Given the description of an element on the screen output the (x, y) to click on. 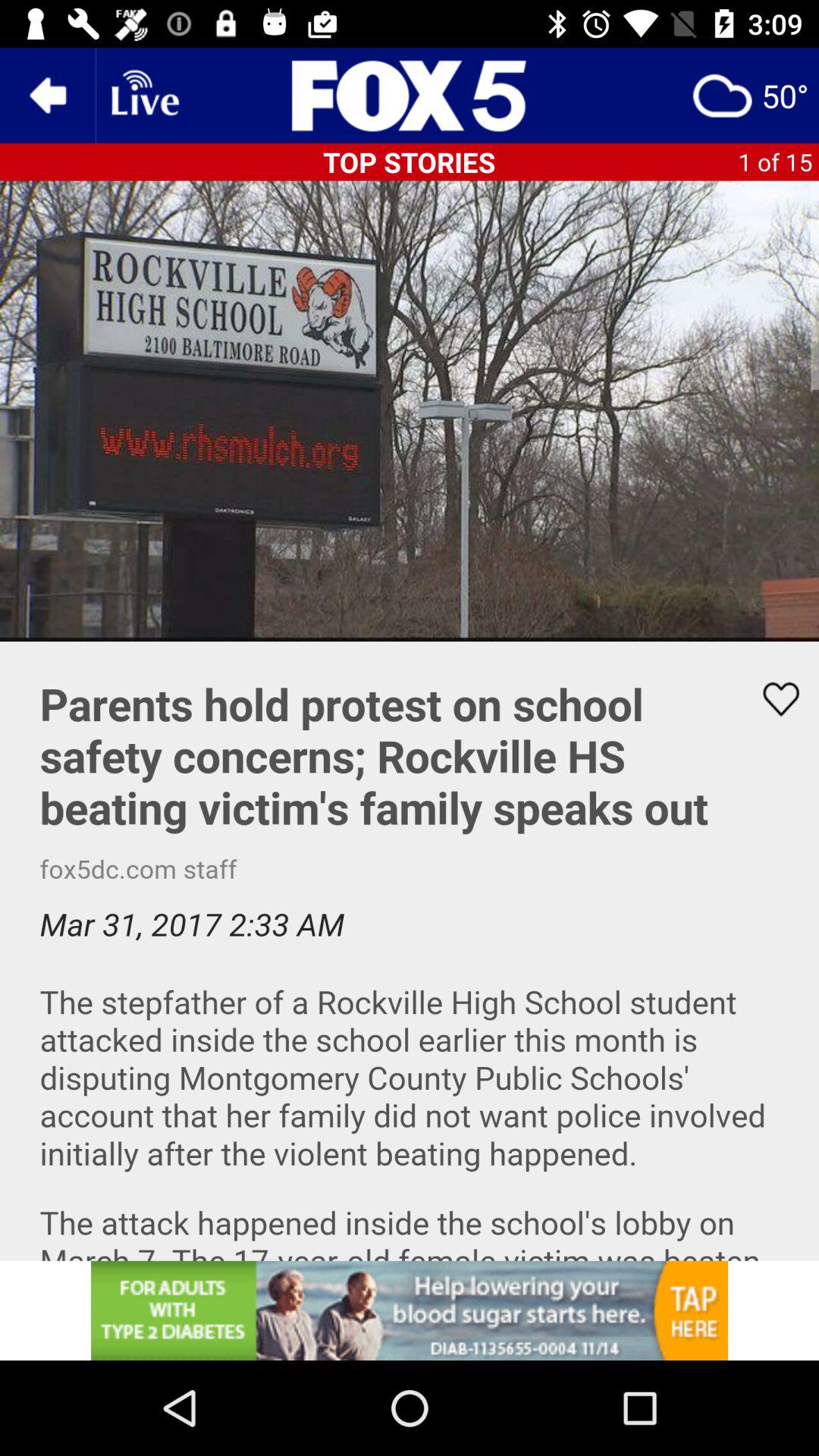
like this article (409, 950)
